Given the description of an element on the screen output the (x, y) to click on. 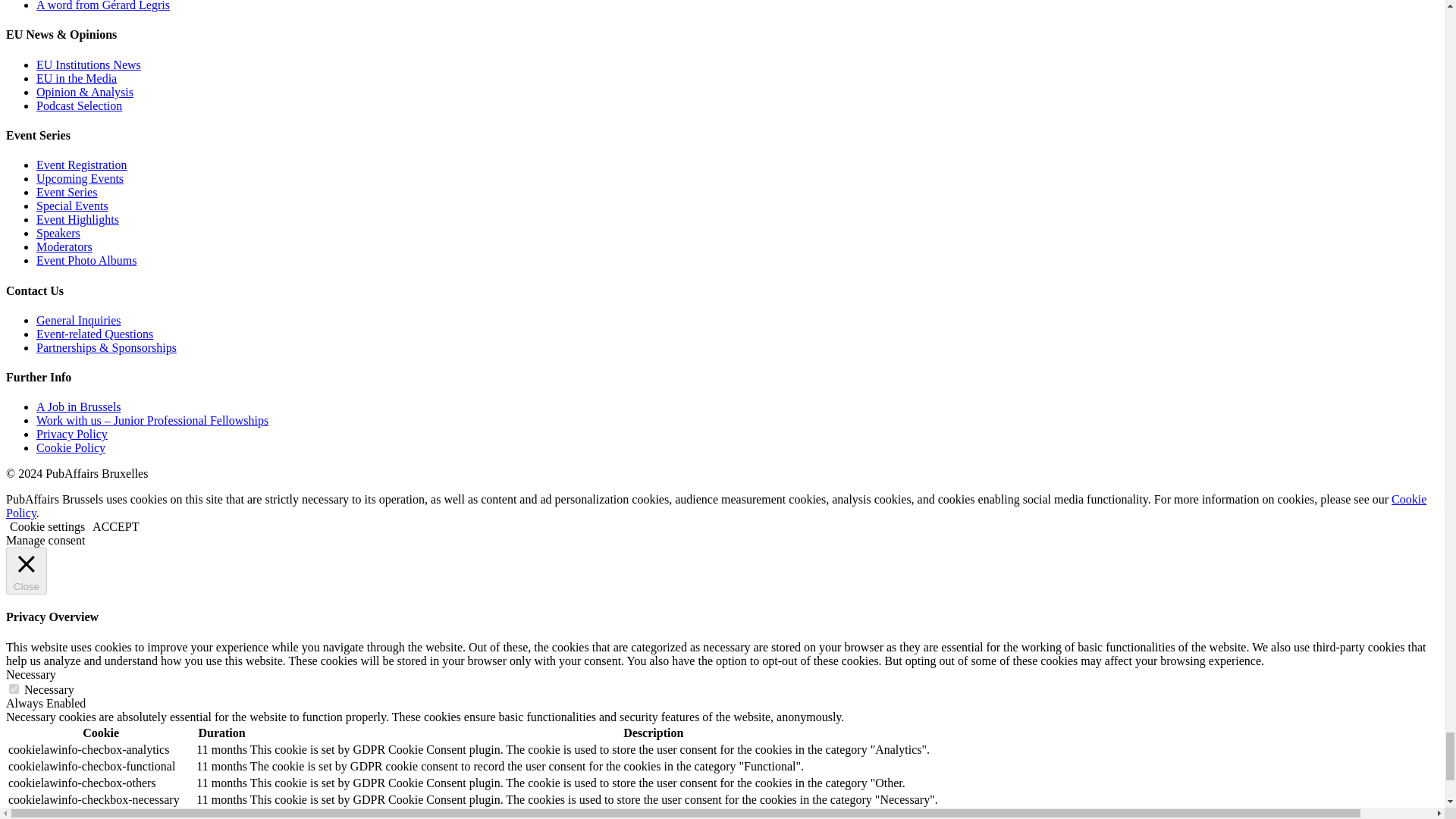
on (13, 688)
